Given the description of an element on the screen output the (x, y) to click on. 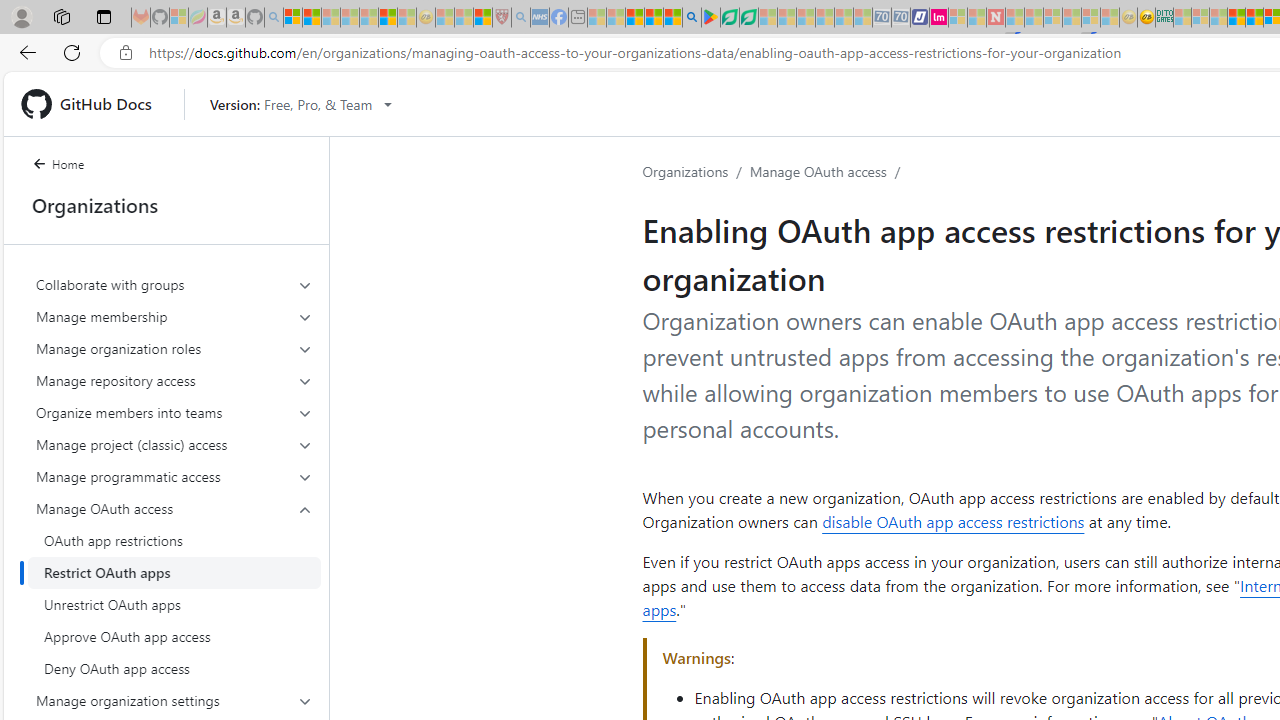
Unrestrict OAuth apps (174, 604)
Approve OAuth app access (174, 636)
disable OAuth app access restrictions (953, 521)
Organizations (685, 171)
Manage organization settings (174, 700)
GitHub Docs (93, 103)
